Given the description of an element on the screen output the (x, y) to click on. 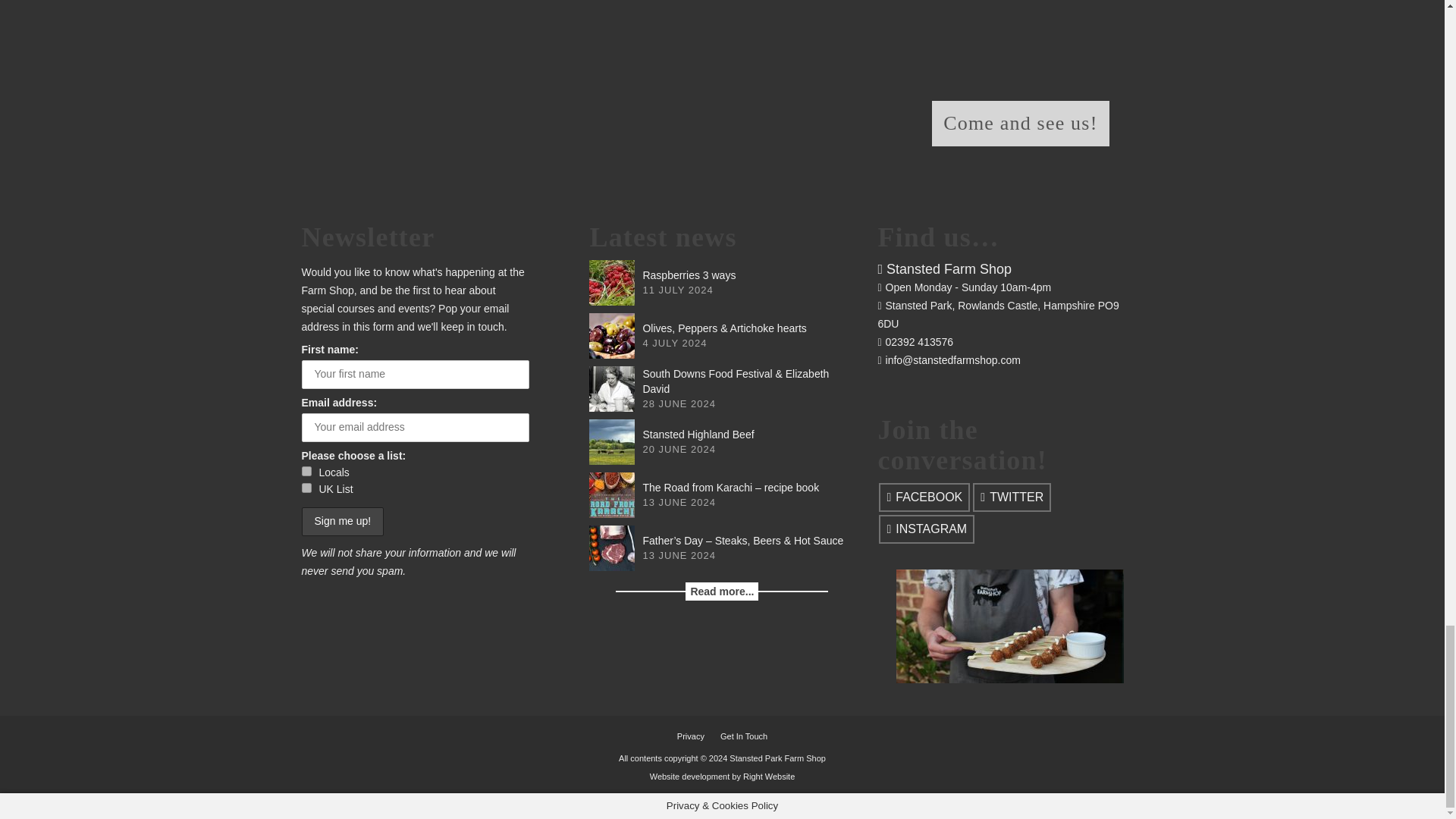
2a23b8a181 (306, 470)
Raspberries 3 ways (688, 275)
Stansted Highland Beef (611, 442)
Sign me up! (342, 521)
Raspberries 3 ways (611, 282)
6731842508 (306, 488)
Sign me up! (342, 521)
Stansted Highland Beef (698, 434)
